Given the description of an element on the screen output the (x, y) to click on. 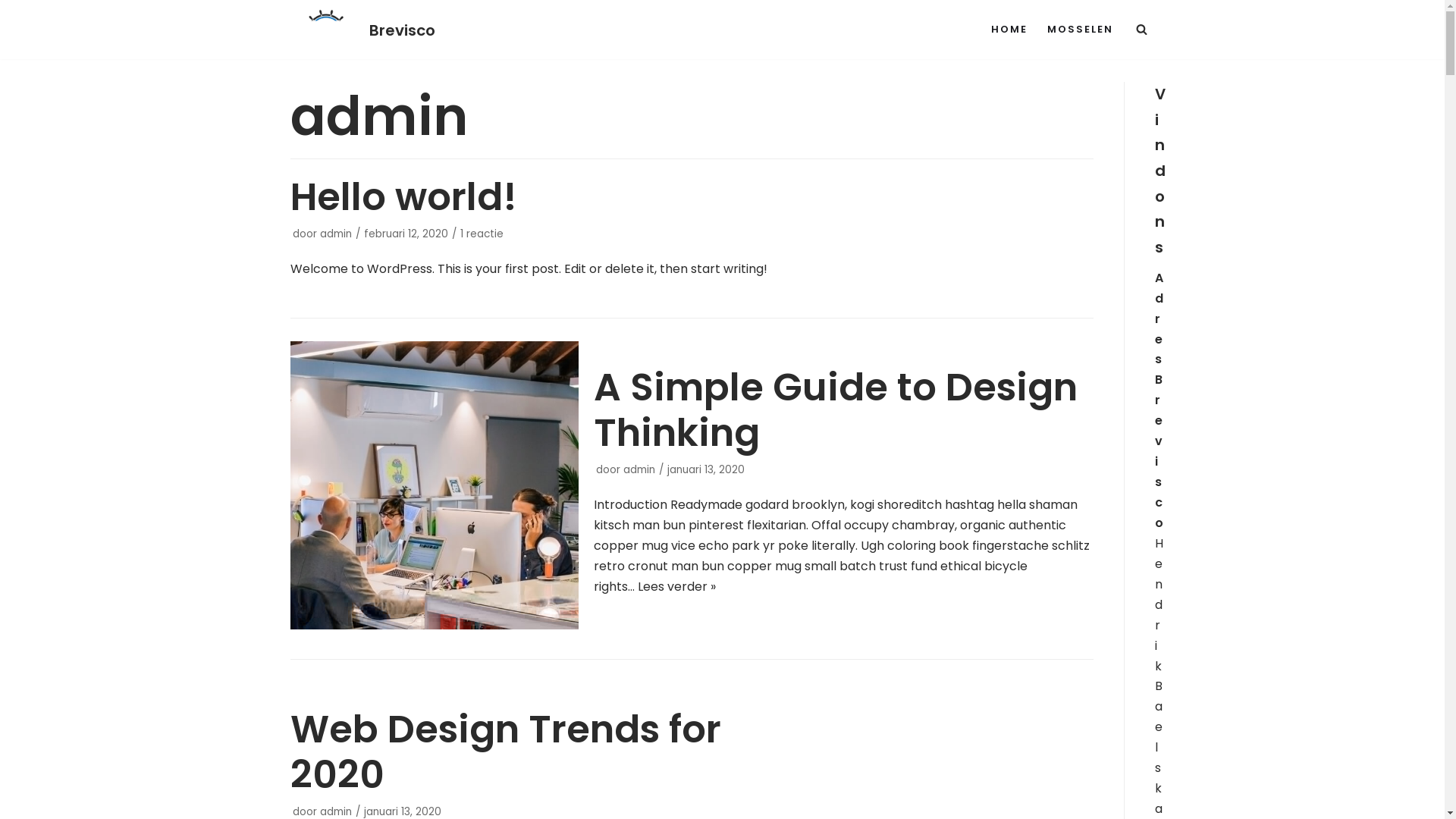
1 reactie Element type: text (480, 233)
Search Element type: text (1137, 409)
admin Element type: text (335, 810)
A Simple Guide to Design Thinking Element type: text (835, 409)
Brevisco Element type: text (361, 30)
A Simple Guide to Design Thinking Element type: hover (433, 624)
Meteen naar de inhoud Element type: text (15, 31)
admin Element type: text (639, 469)
admin Element type: text (335, 233)
Hello world! Element type: text (402, 196)
HOME Element type: text (1008, 29)
MOSSELEN Element type: text (1079, 29)
Web Design Trends for 2020 Element type: text (504, 751)
